Given the description of an element on the screen output the (x, y) to click on. 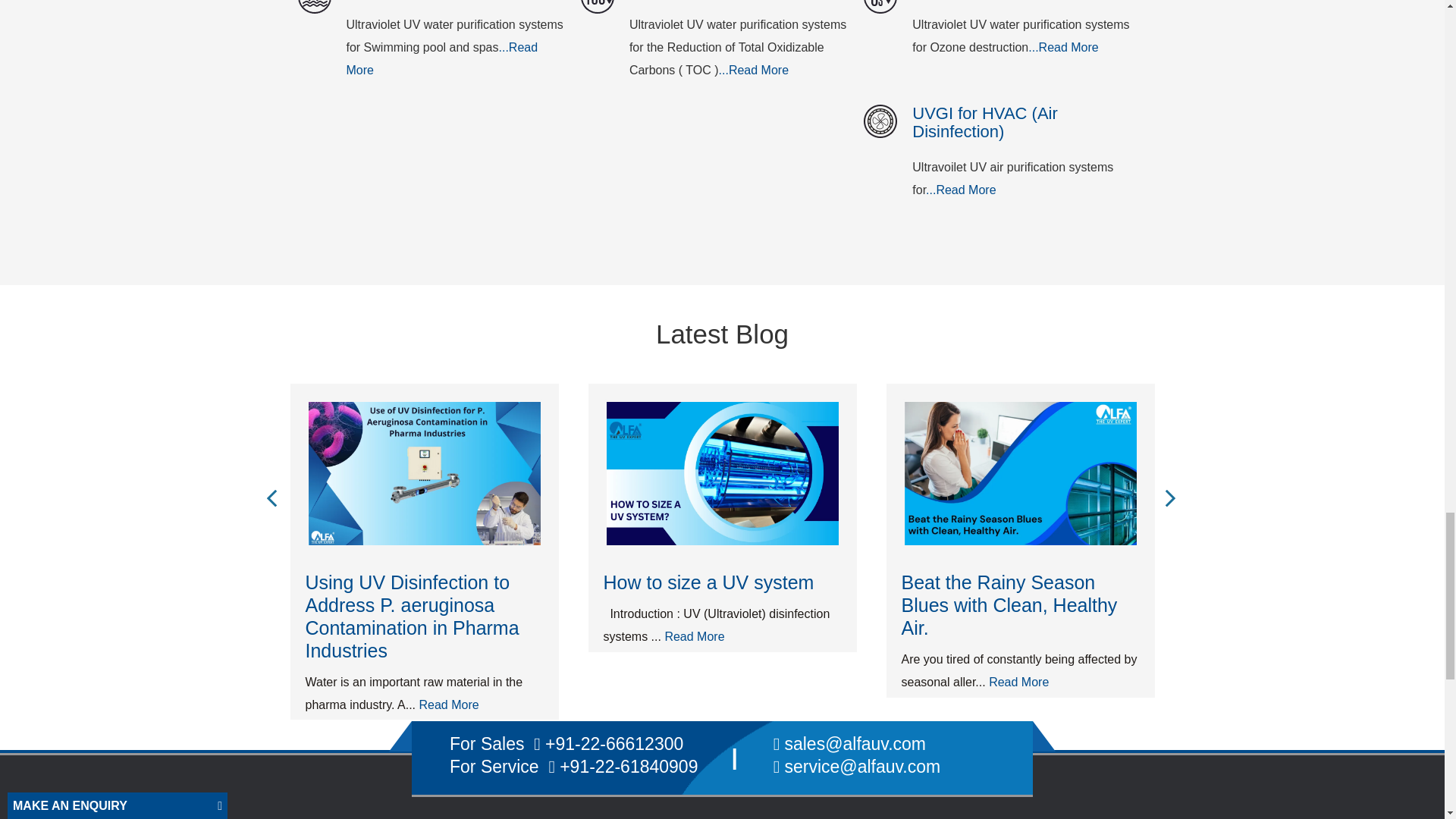
Read More (960, 189)
Read More (1062, 47)
Read More (754, 69)
Read More (441, 58)
